Given the description of an element on the screen output the (x, y) to click on. 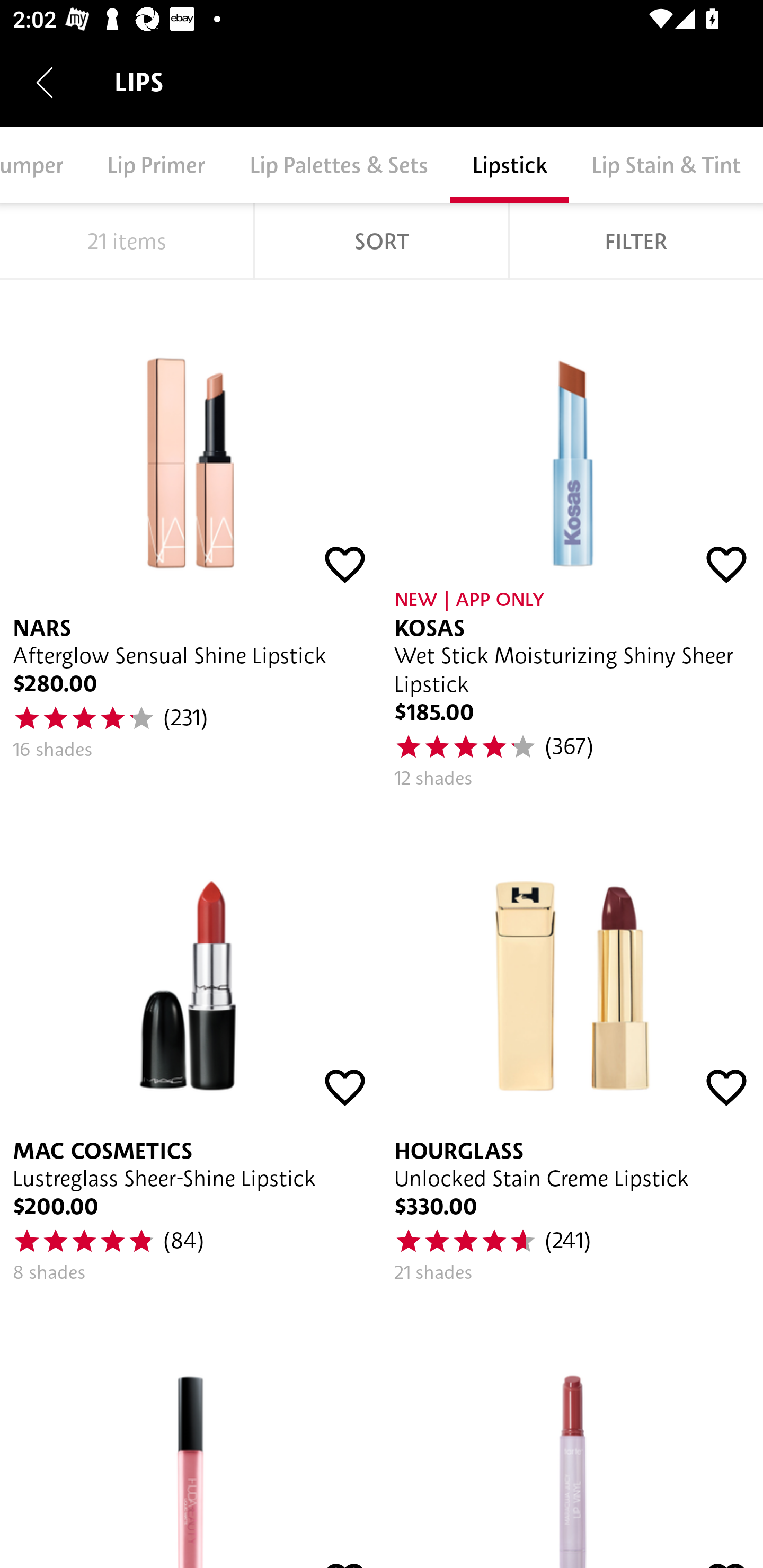
Navigate up (44, 82)
Lip Plumper (42, 165)
Lip Primer (156, 165)
Lip Palettes & Sets (338, 165)
Lip Stain & Tint (666, 165)
SORT (381, 241)
FILTER (636, 241)
